Given the description of an element on the screen output the (x, y) to click on. 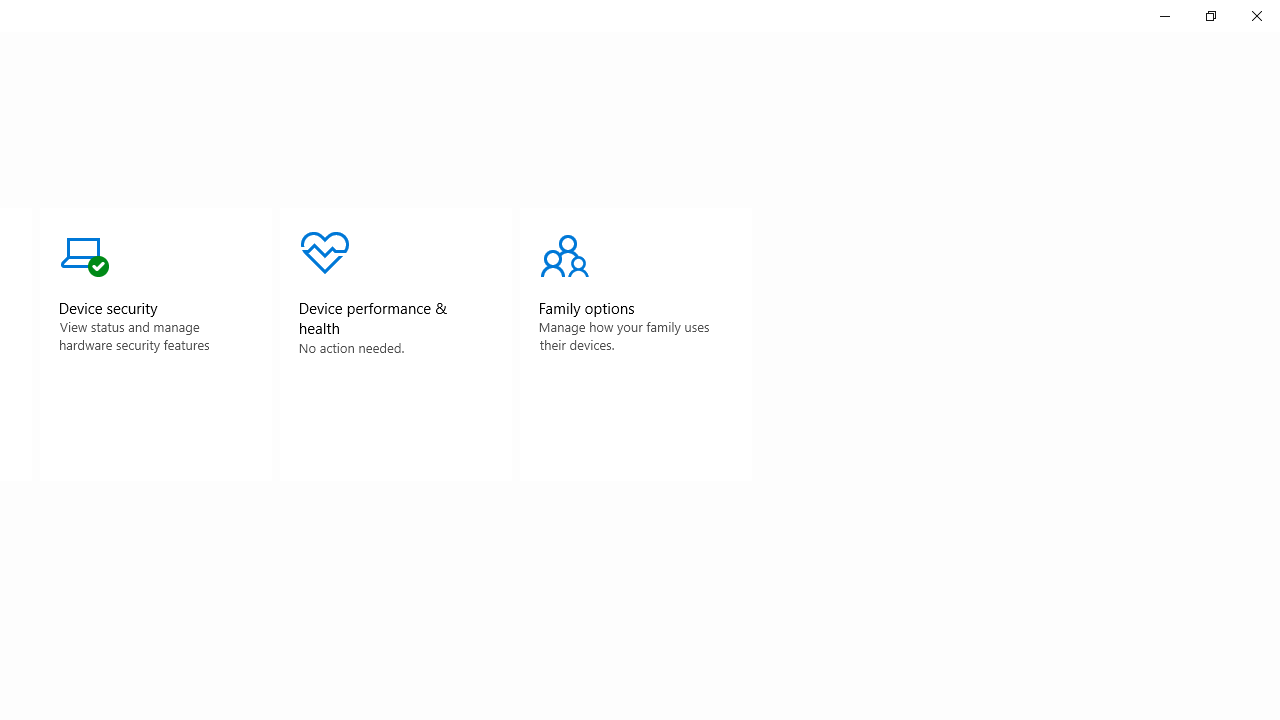
Restore Windows Security (1210, 15)
Minimize Windows Security (1164, 15)
Device securityNo action needed. (155, 344)
Family optionsNo action needed. (635, 344)
Close Windows Security (1256, 15)
Device performance & healthNo action needed. (396, 344)
